Given the description of an element on the screen output the (x, y) to click on. 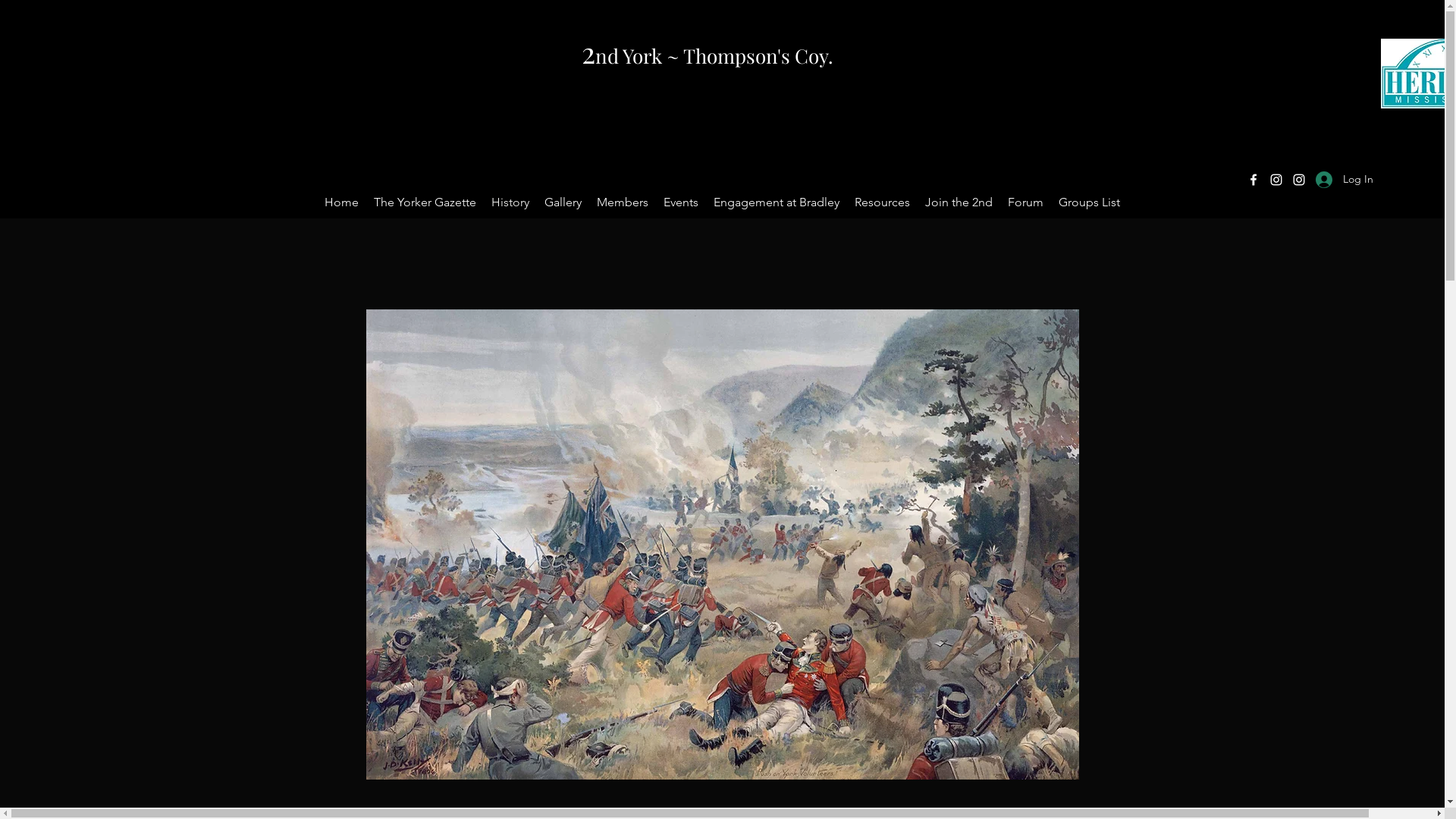
Log In Element type: text (1344, 179)
Join the 2nd Element type: text (958, 202)
The Yorker Gazette Element type: text (424, 202)
Forum Element type: text (1025, 202)
2 Element type: text (588, 51)
Members Element type: text (622, 202)
Resources Element type: text (882, 202)
Engagement at Bradley Element type: text (776, 202)
History Element type: text (509, 202)
Events Element type: text (680, 202)
Gallery Element type: text (562, 202)
nd York ~ Thompson's Coy. Element type: text (714, 55)
Home Element type: text (341, 202)
Groups List Element type: text (1089, 202)
